Given the description of an element on the screen output the (x, y) to click on. 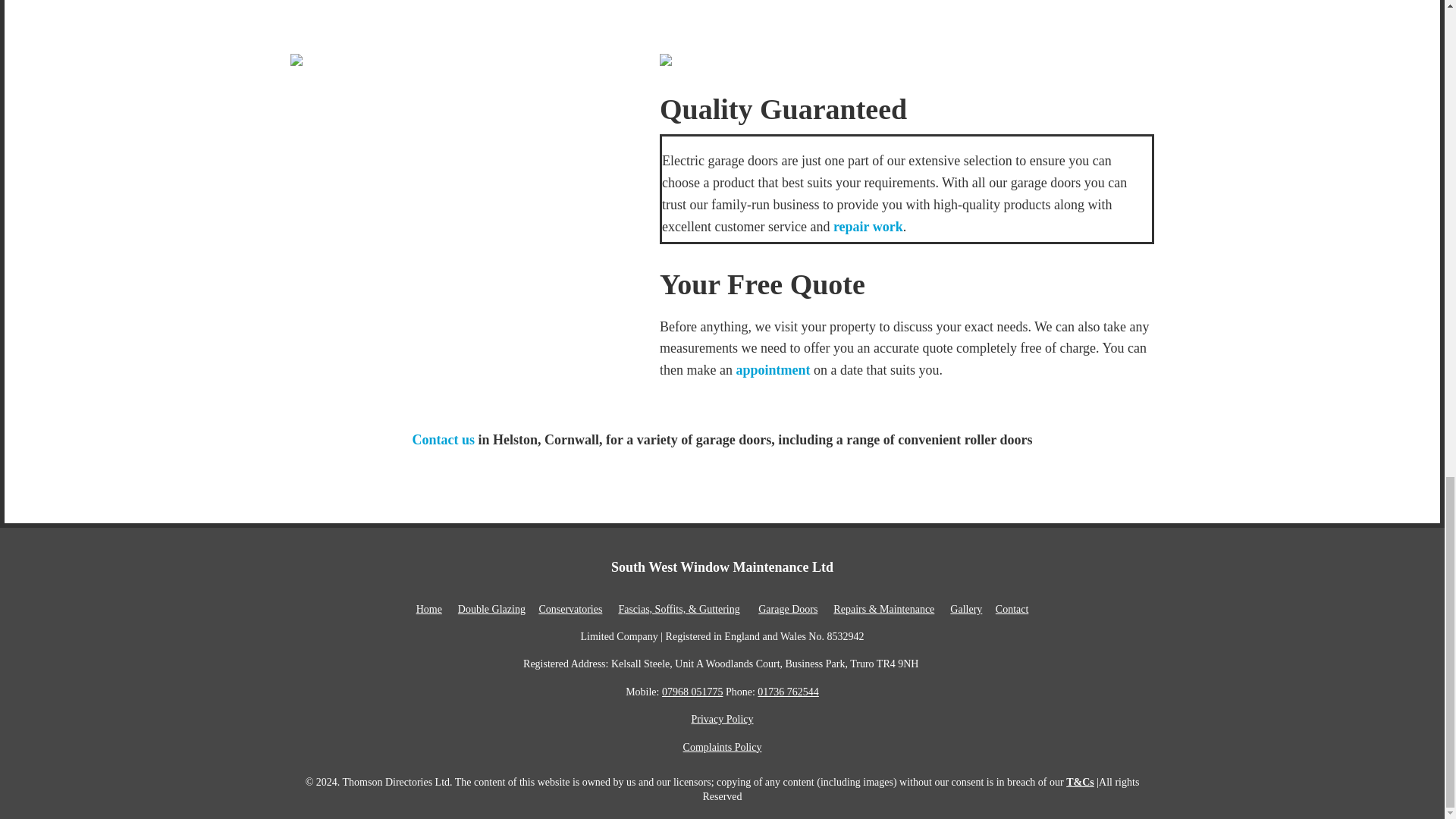
Privacy Policy (721, 718)
Double Glazing (491, 609)
repair work (867, 226)
Garage Doors (787, 609)
appointment (772, 369)
Complaints Policy (721, 747)
Conservatories (570, 609)
Gallery (965, 609)
01736 762544 (787, 691)
Home (429, 609)
07968 051775 (692, 691)
Contact (1012, 609)
Contact us (444, 439)
